Given the description of an element on the screen output the (x, y) to click on. 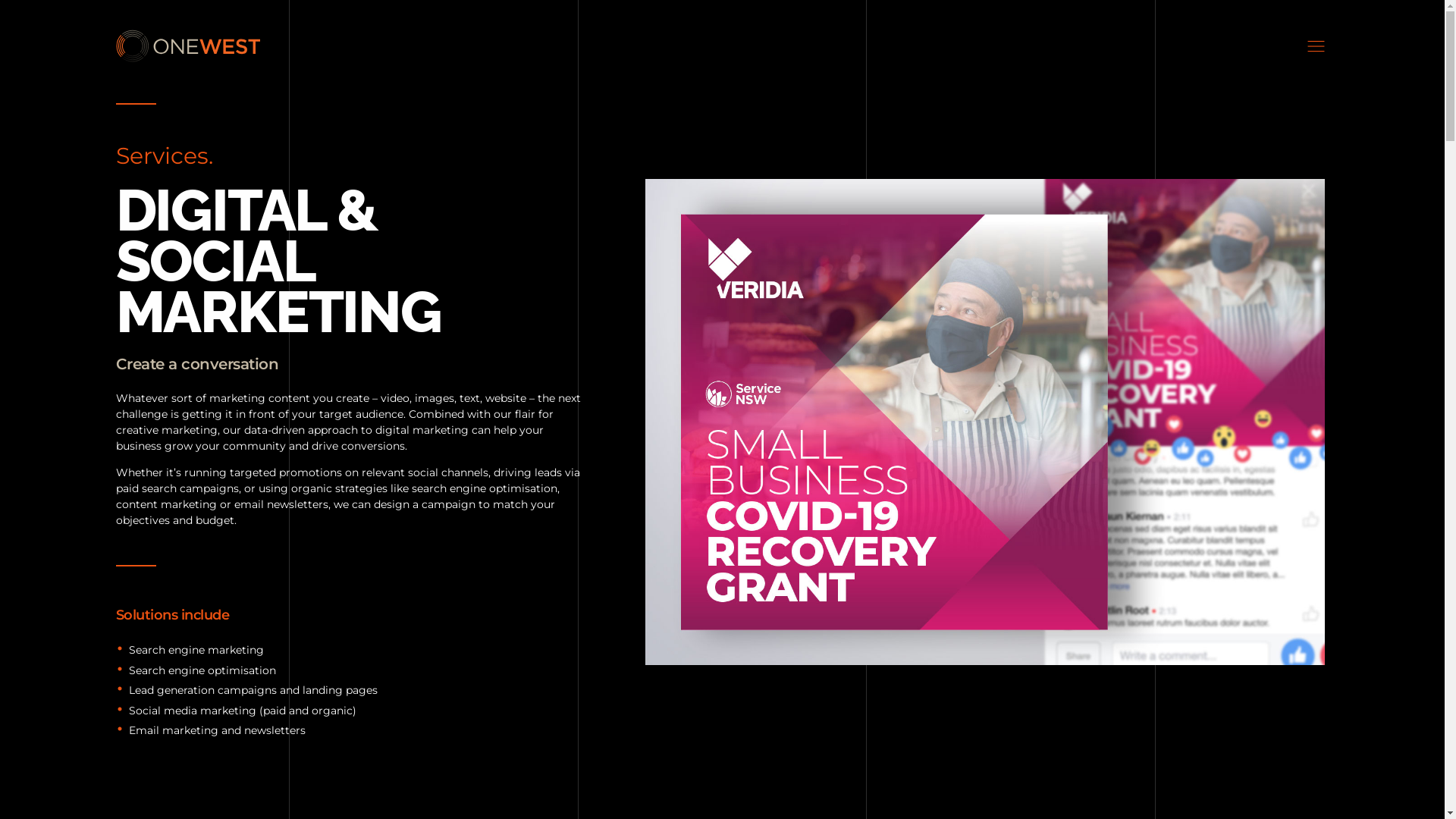
OneWest Design & Media Element type: hover (187, 45)
OneWest Design & Media Element type: text (211, 70)
